Given the description of an element on the screen output the (x, y) to click on. 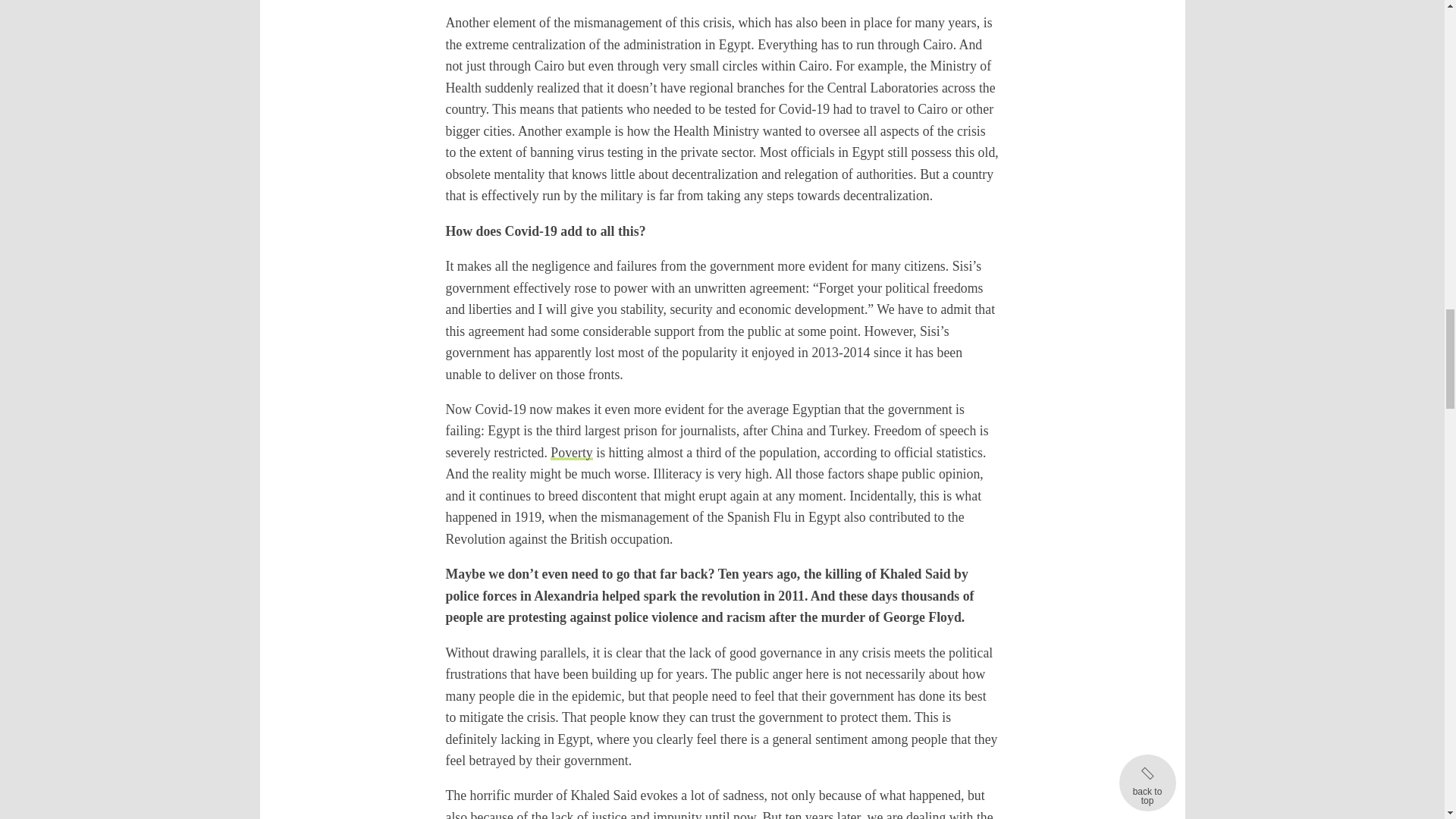
Poverty (571, 452)
